Given the description of an element on the screen output the (x, y) to click on. 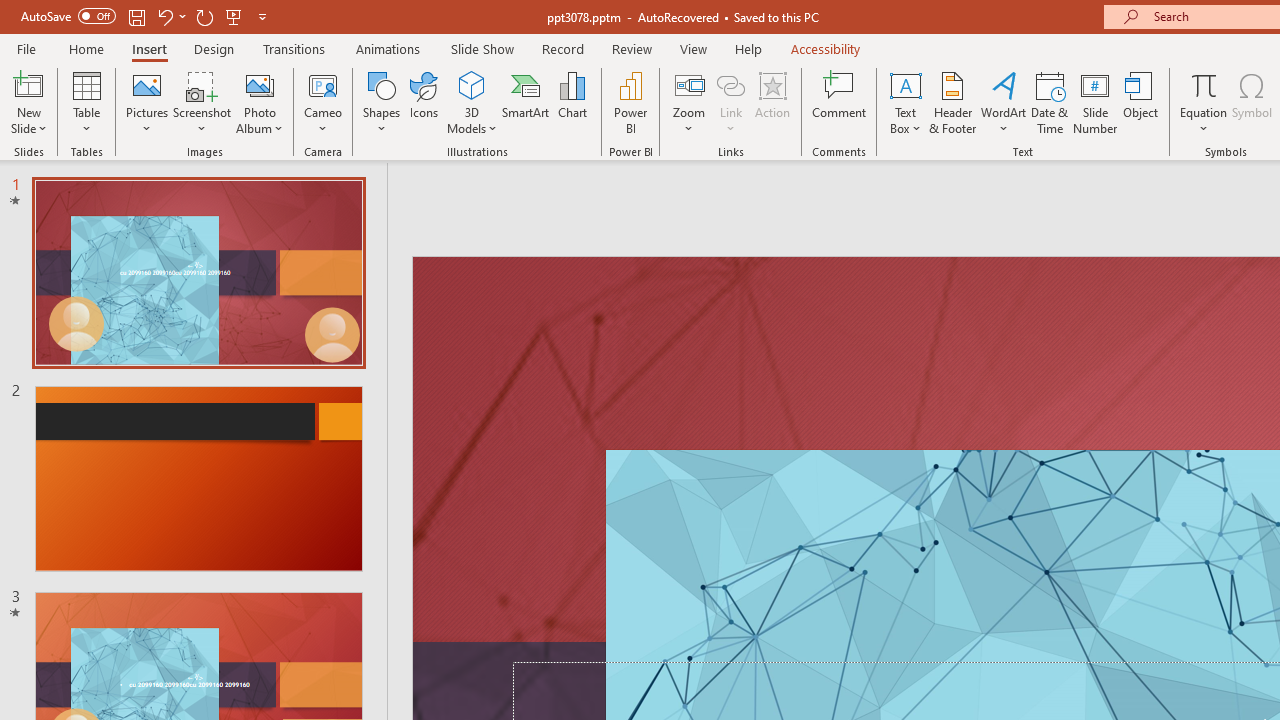
New Slide (28, 84)
Quick Access Toolbar (145, 16)
Shapes (381, 102)
Redo (204, 15)
Link (731, 102)
Date & Time... (1050, 102)
File Tab (26, 48)
Draw Horizontal Text Box (905, 84)
